Given the description of an element on the screen output the (x, y) to click on. 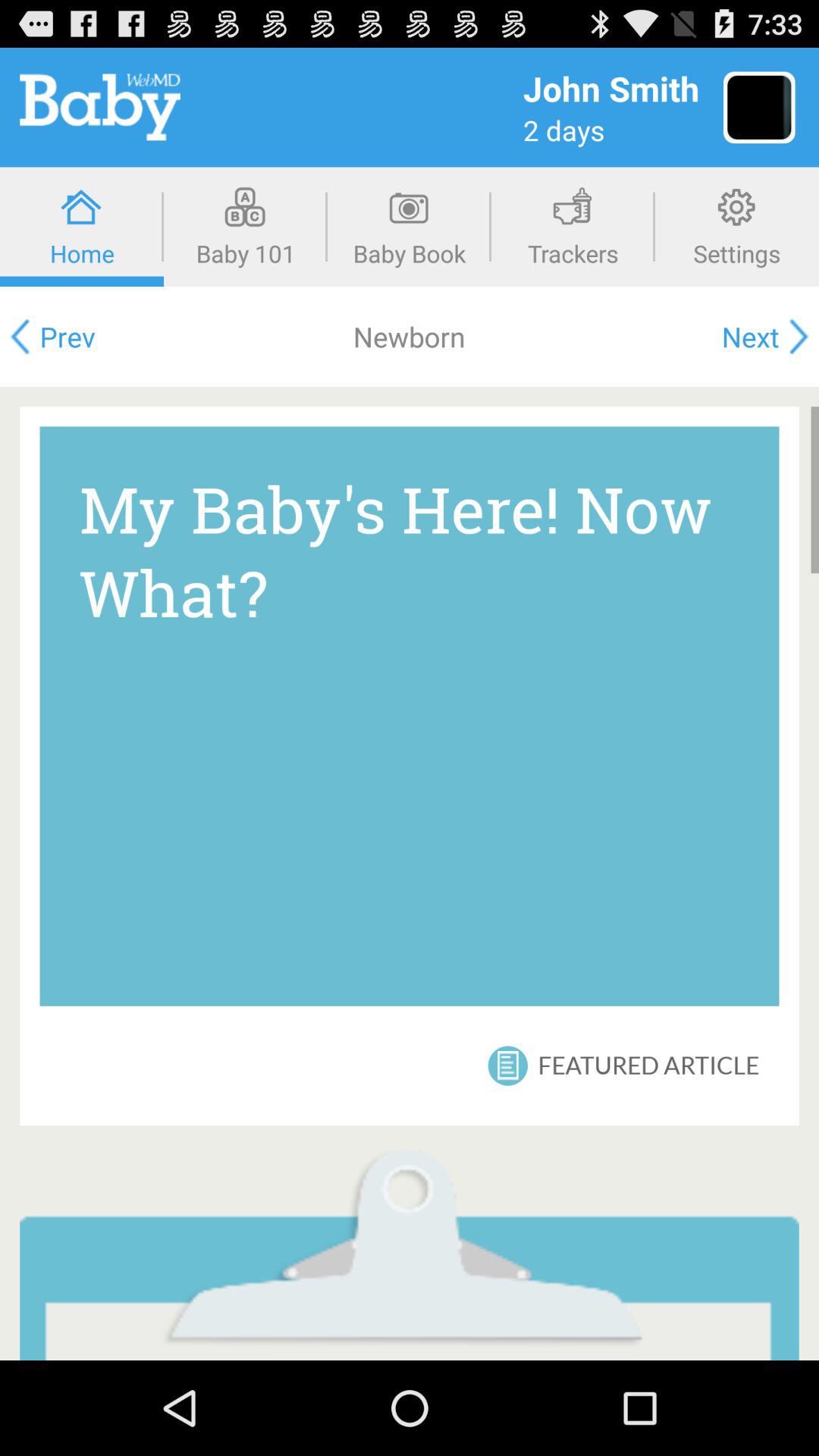
scroll to the featured article icon (648, 1065)
